Given the description of an element on the screen output the (x, y) to click on. 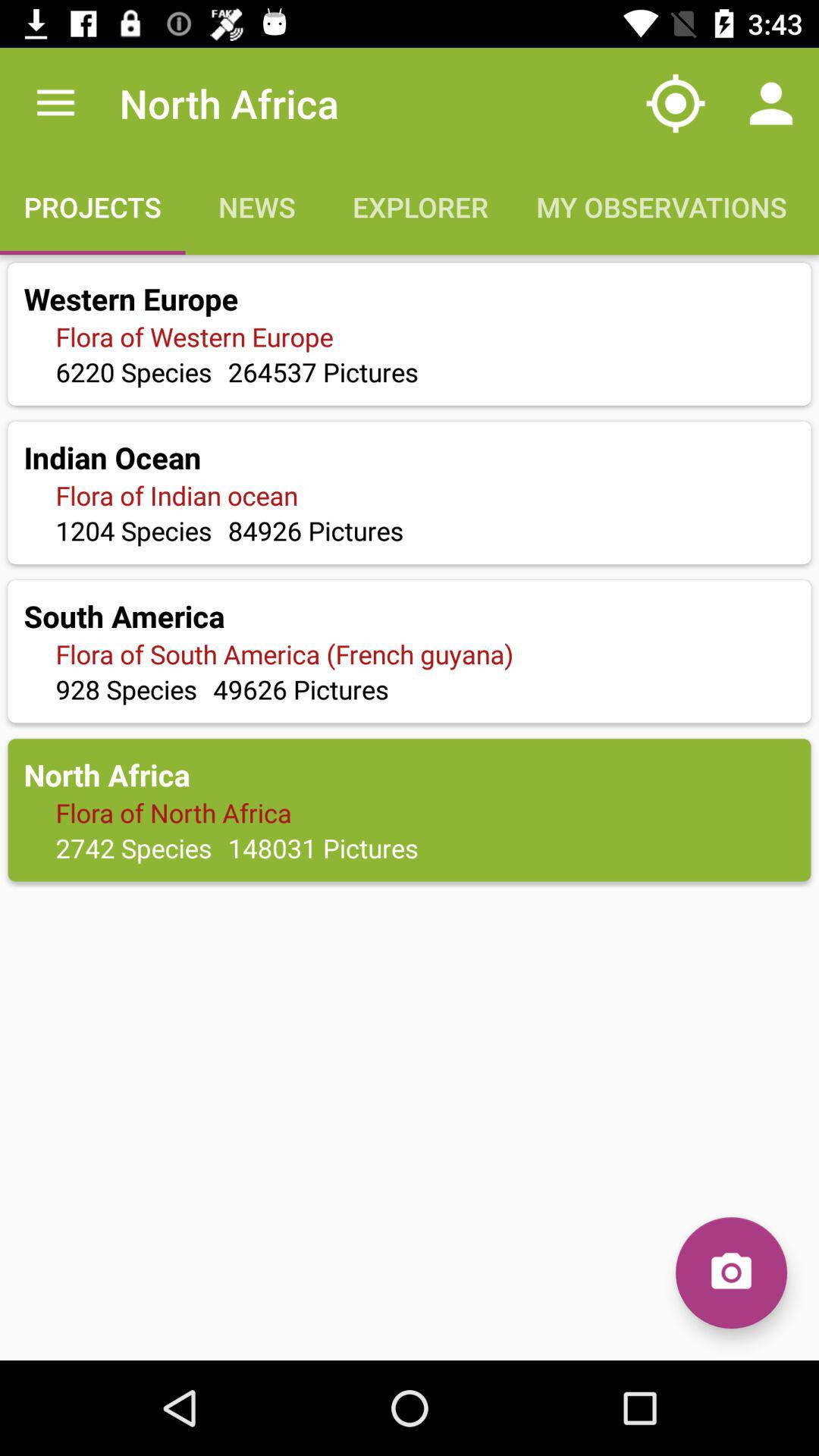
launch the item above the my observations item (675, 103)
